Given the description of an element on the screen output the (x, y) to click on. 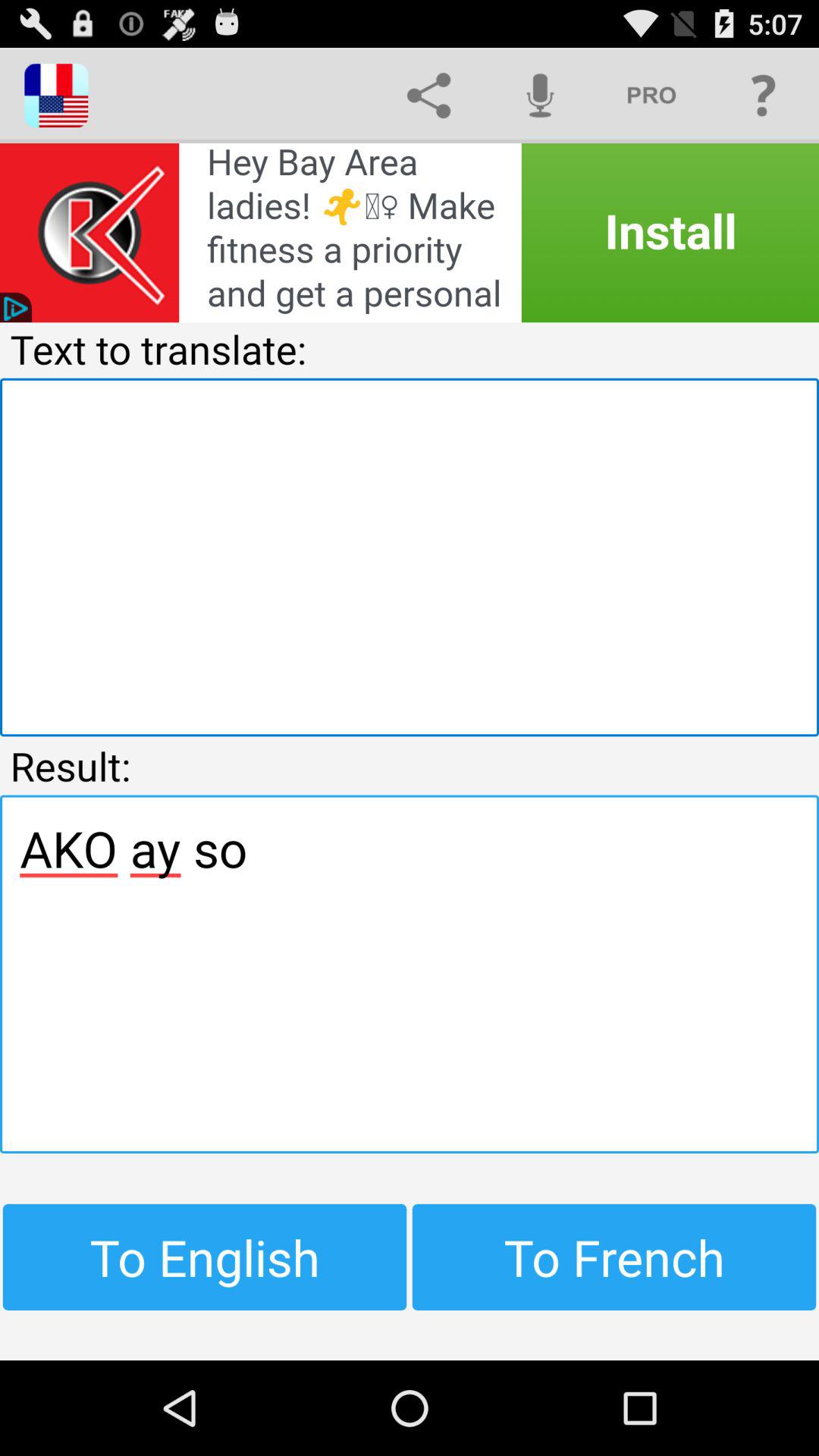
click to french button (614, 1257)
